Given the description of an element on the screen output the (x, y) to click on. 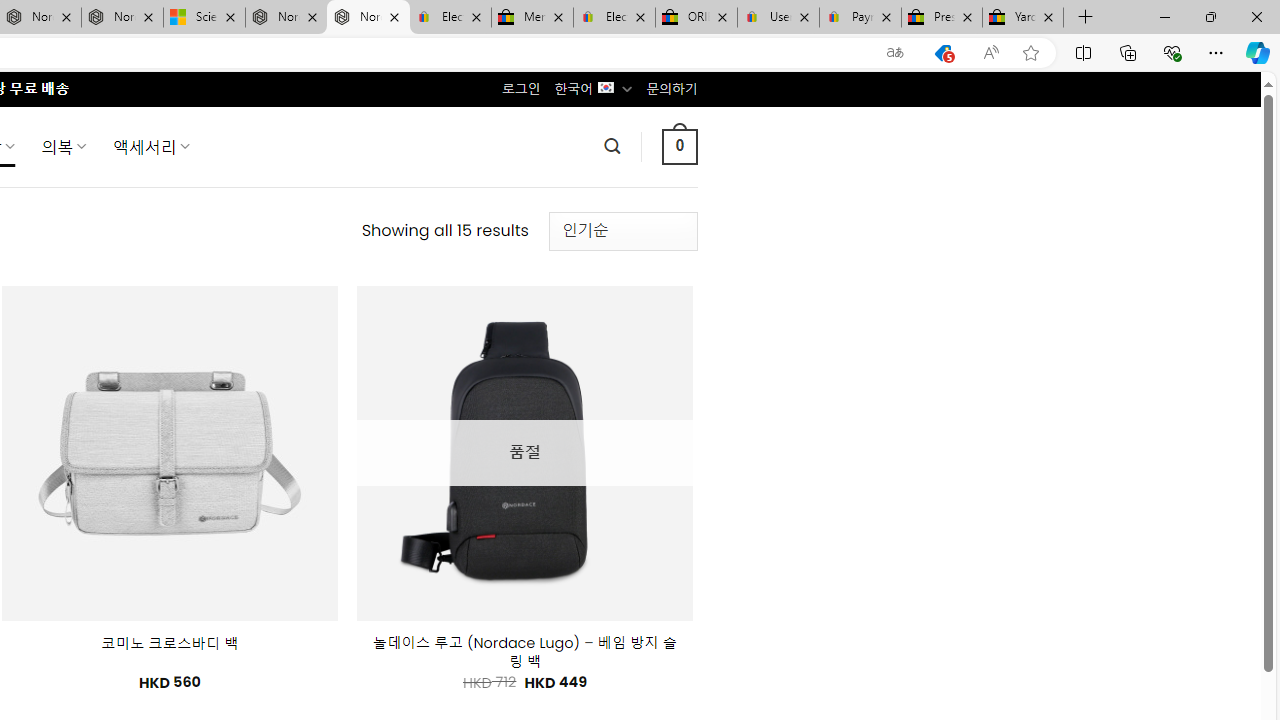
Show translate options (895, 53)
